Given the description of an element on the screen output the (x, y) to click on. 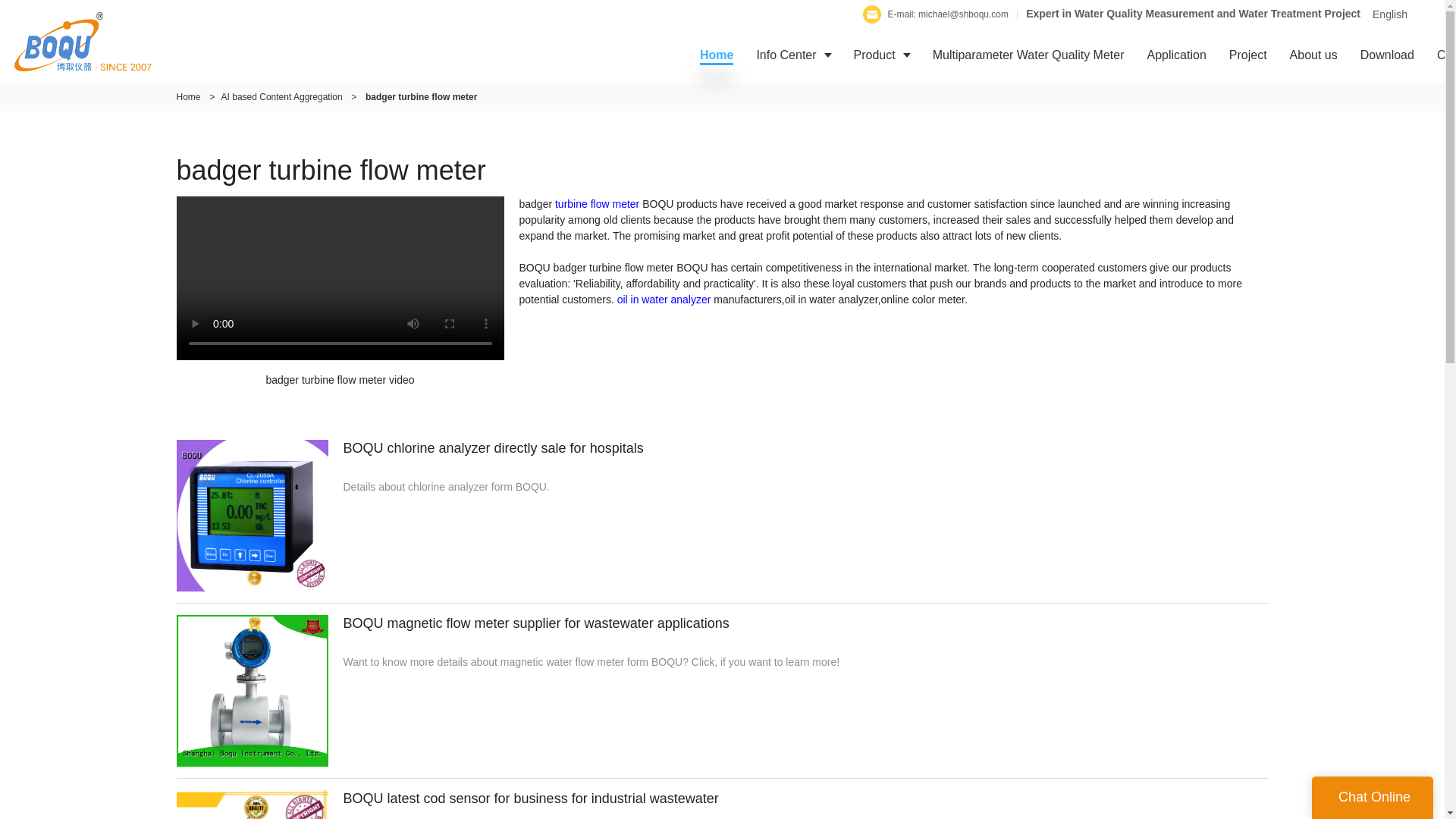
Home (716, 55)
Info Center (792, 55)
Product (882, 55)
